Given the description of an element on the screen output the (x, y) to click on. 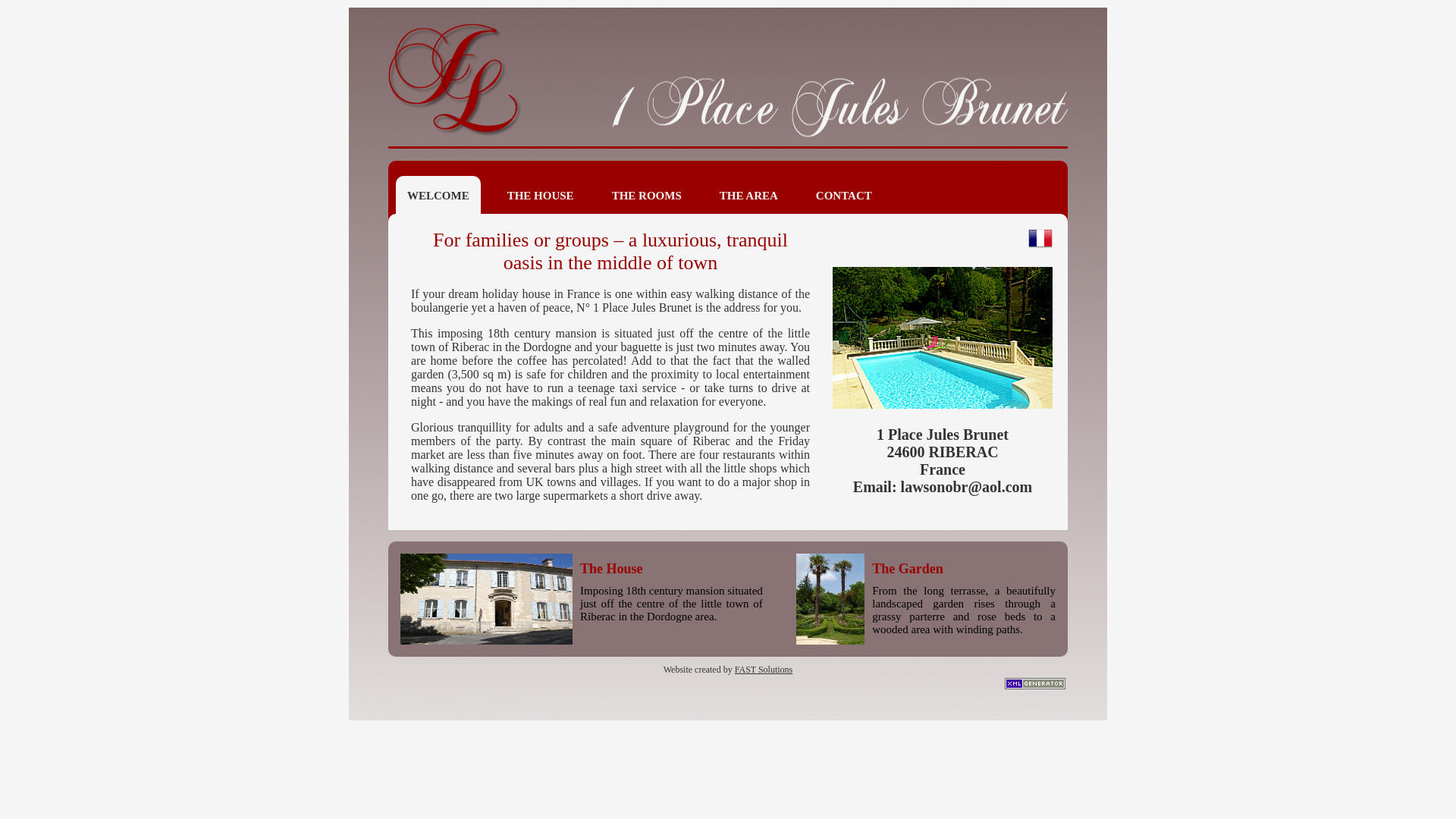
WELCOME Element type: text (437, 195)
FAST Solutions Element type: text (763, 669)
CONTACT Element type: text (843, 195)
THE HOUSE Element type: text (540, 195)
lawsonobr@aol.com Element type: text (966, 486)
THE ROOMS Element type: text (646, 195)
THE AREA Element type: text (748, 195)
